Given the description of an element on the screen output the (x, y) to click on. 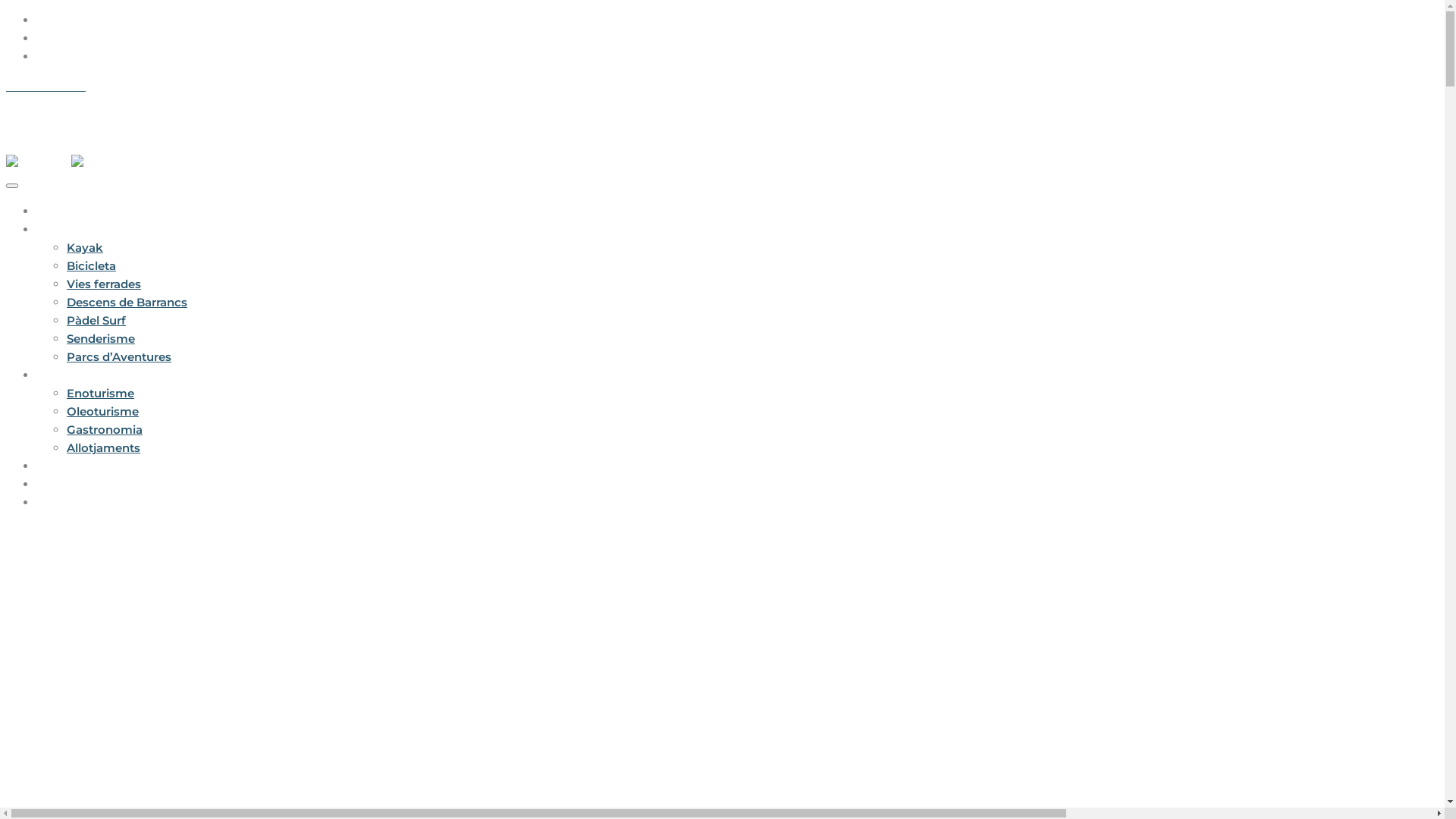
Activitats Element type: text (63, 229)
Descens de Barrancs Element type: text (126, 301)
Enoturisme Element type: text (100, 392)
Degustacions Element type: text (76, 374)
Oleoturisme Element type: text (102, 411)
Gastronomia Element type: text (104, 429)
Qui som? Element type: text (63, 483)
Kayak Element type: text (84, 247)
+34699145782 Element type: text (45, 85)
Packs Element type: text (54, 465)
Bicicleta Element type: text (91, 265)
xalaebre@gmail.com Element type: text (145, 85)
Contacta Element type: text (62, 502)
Vies ferrades Element type: text (103, 283)
Allotjaments Element type: text (103, 447)
Senderisme Element type: text (100, 338)
Inici Element type: text (48, 210)
